Given the description of an element on the screen output the (x, y) to click on. 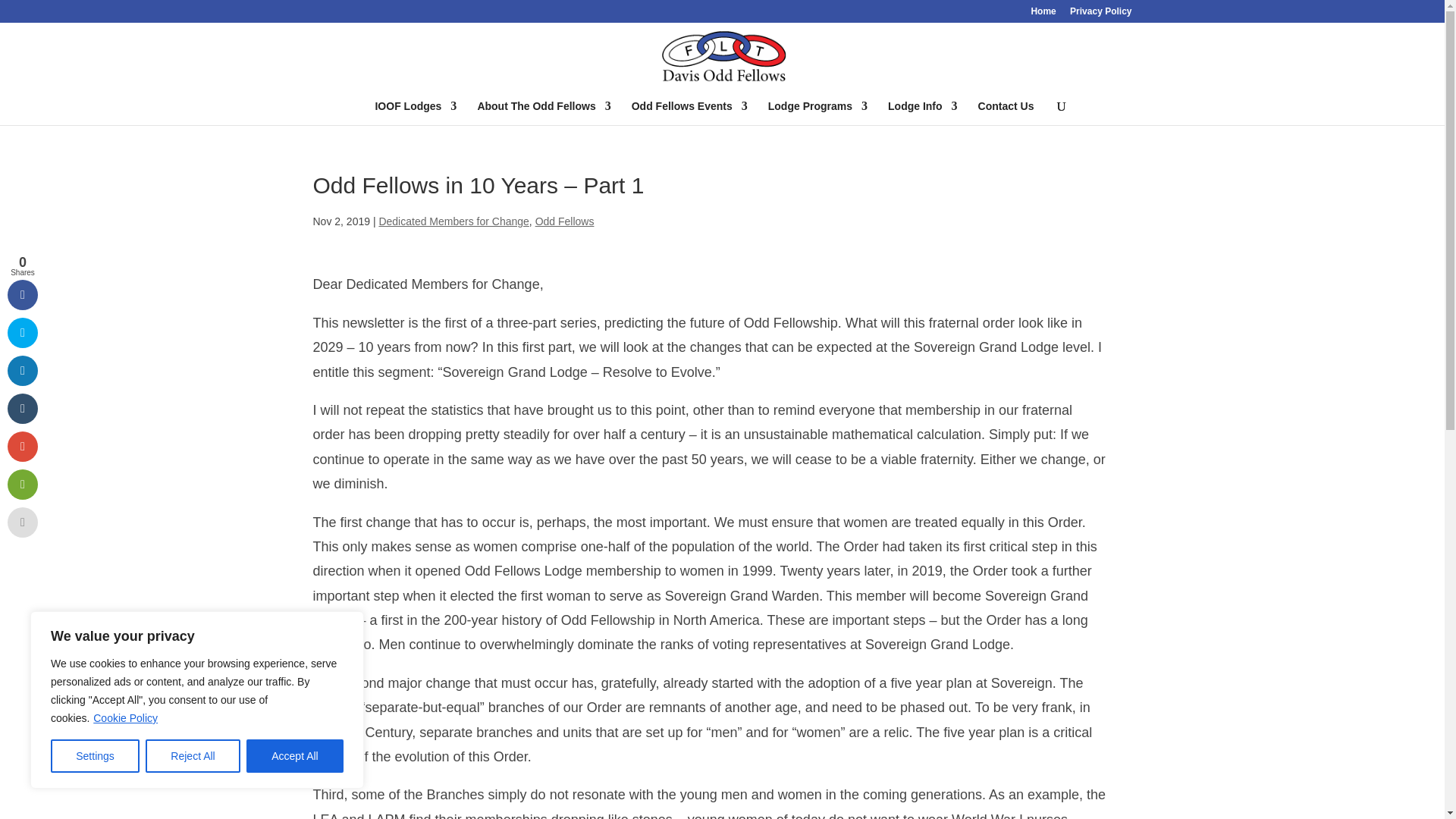
Davis Lodge Resources (923, 112)
Information about the Davis Odd Fellows (543, 112)
Home (1042, 14)
About The Odd Fellows (543, 112)
Accept All (294, 756)
Reject All (192, 756)
Davis Odd Fellows Programs (817, 112)
Settings (94, 756)
IOOF Lodges (415, 112)
Odd Fellows Events (689, 112)
